Given the description of an element on the screen output the (x, y) to click on. 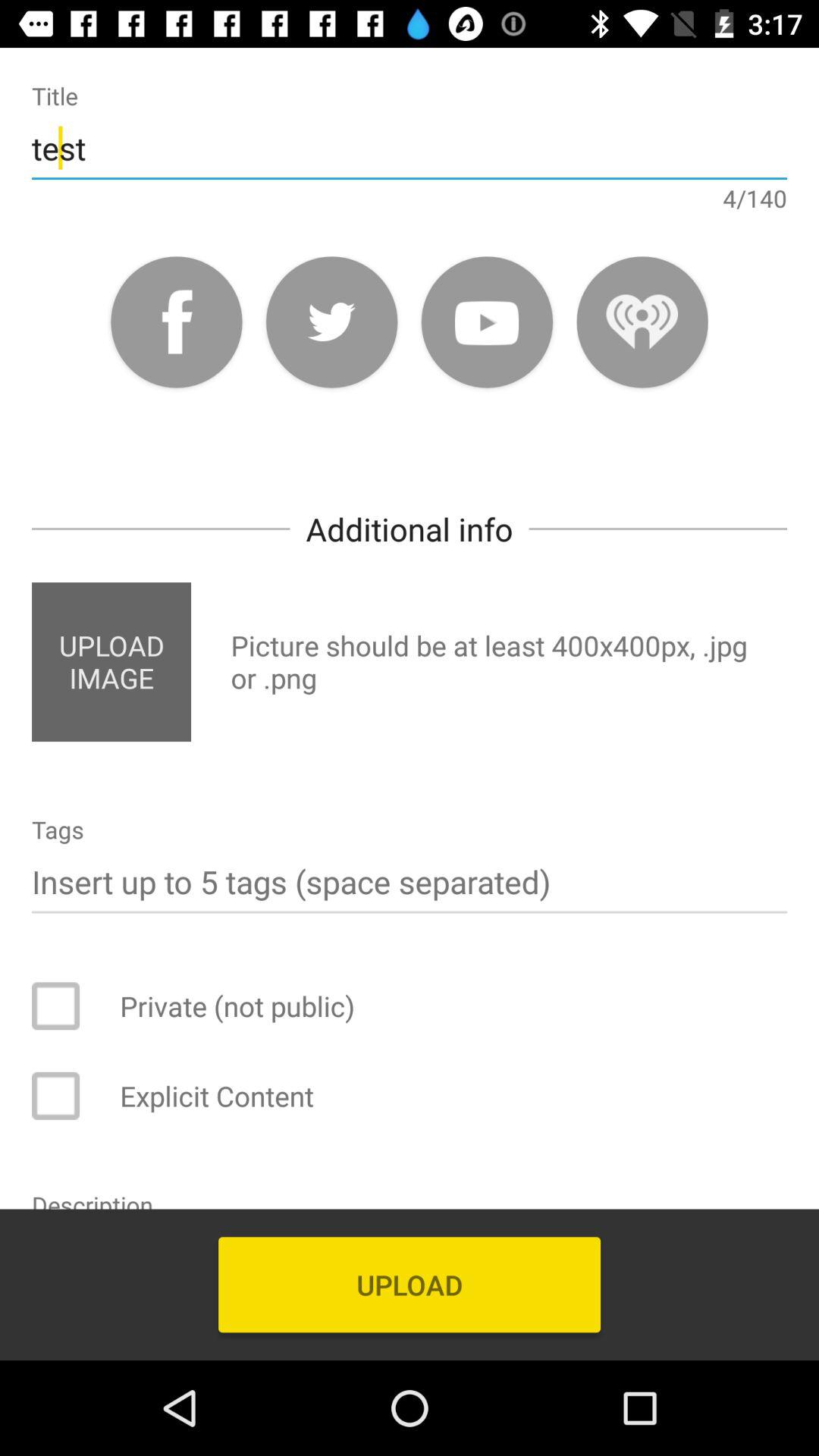
add tags (409, 881)
